Given the description of an element on the screen output the (x, y) to click on. 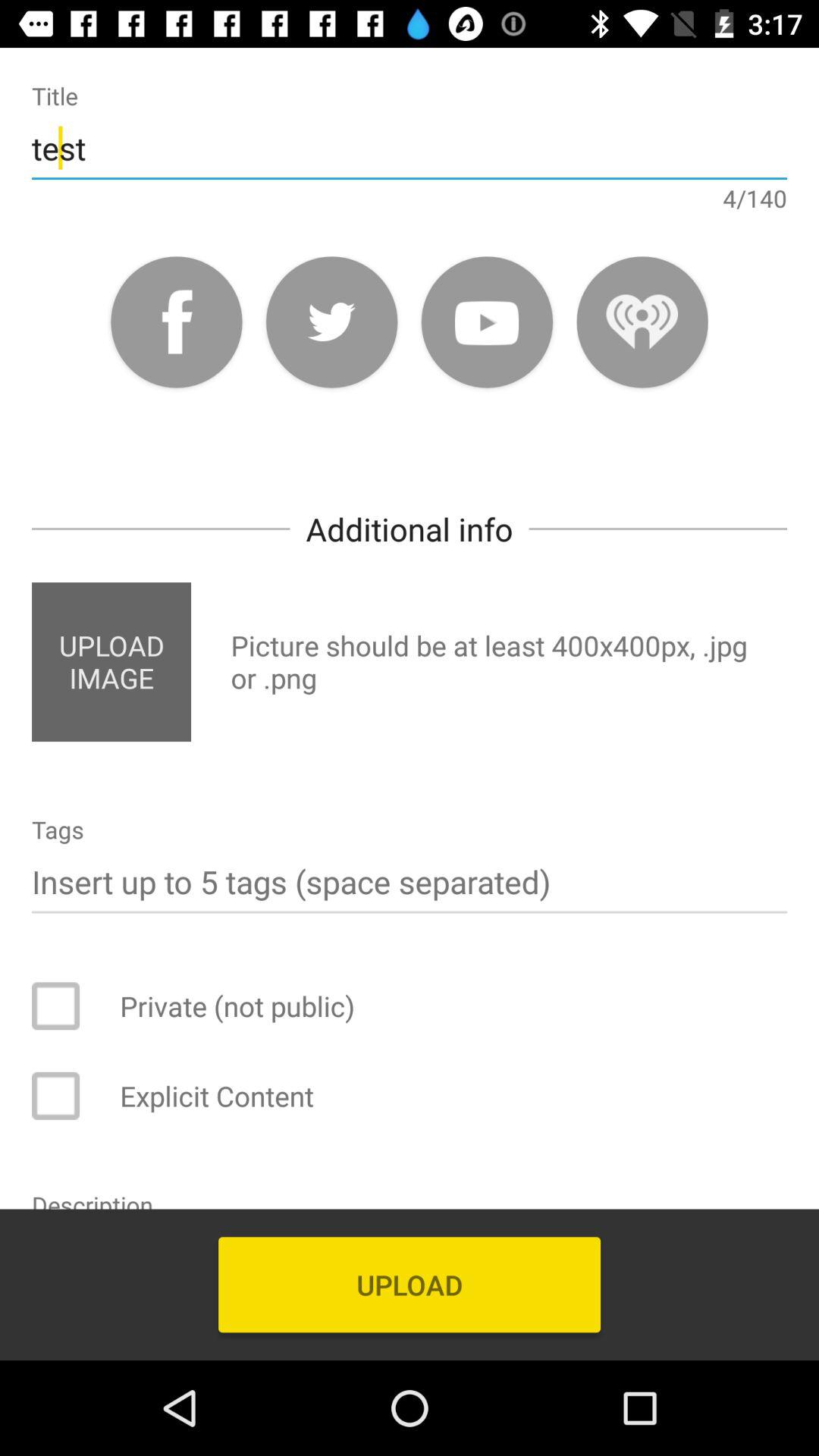
add tags (409, 881)
